Given the description of an element on the screen output the (x, y) to click on. 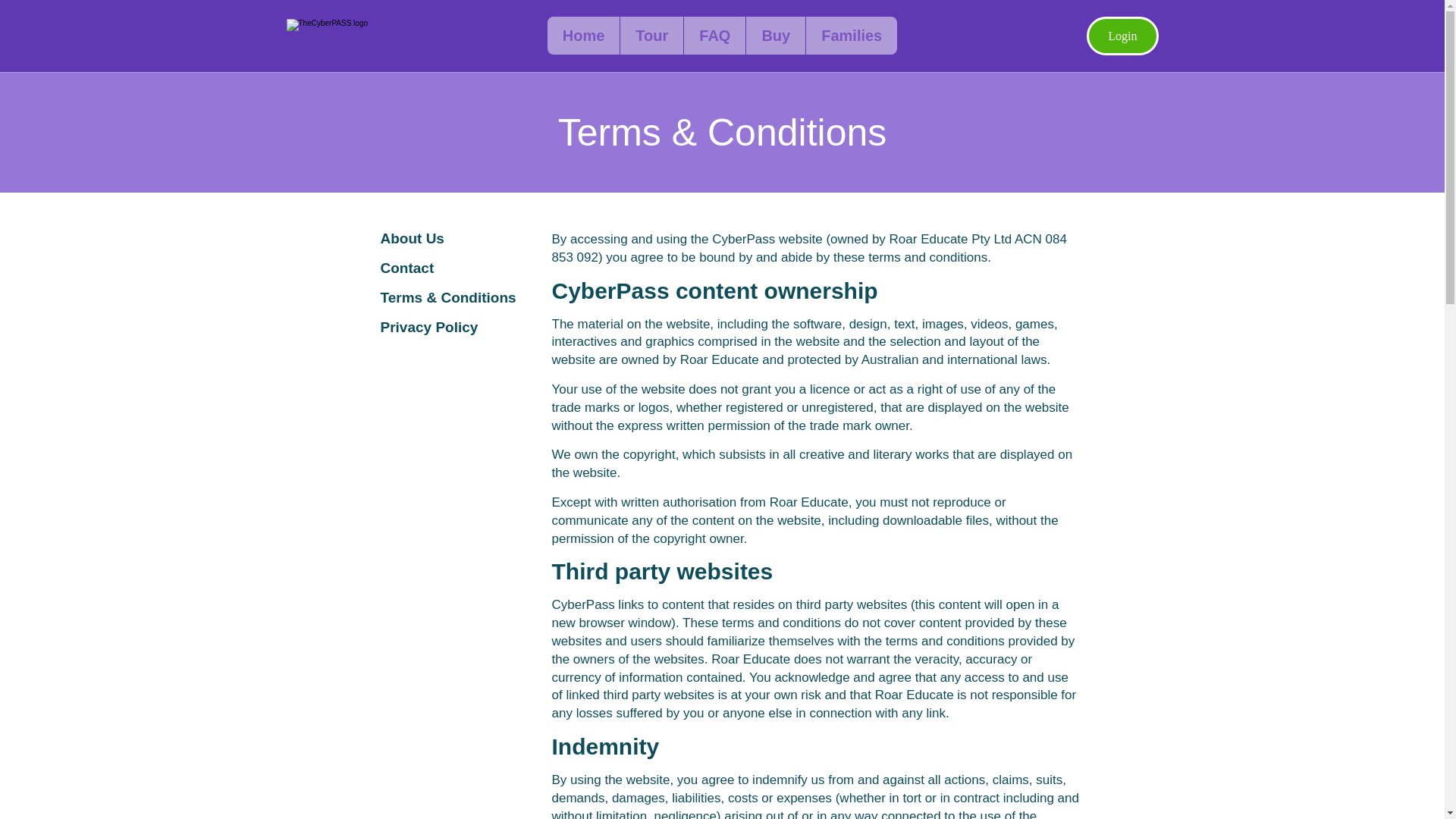
Families (851, 35)
Privacy Policy (429, 326)
Tour (652, 35)
Login (1121, 35)
FAQ (714, 35)
Home (584, 35)
About Us (412, 238)
Contact (406, 268)
Buy (775, 35)
